Given the description of an element on the screen output the (x, y) to click on. 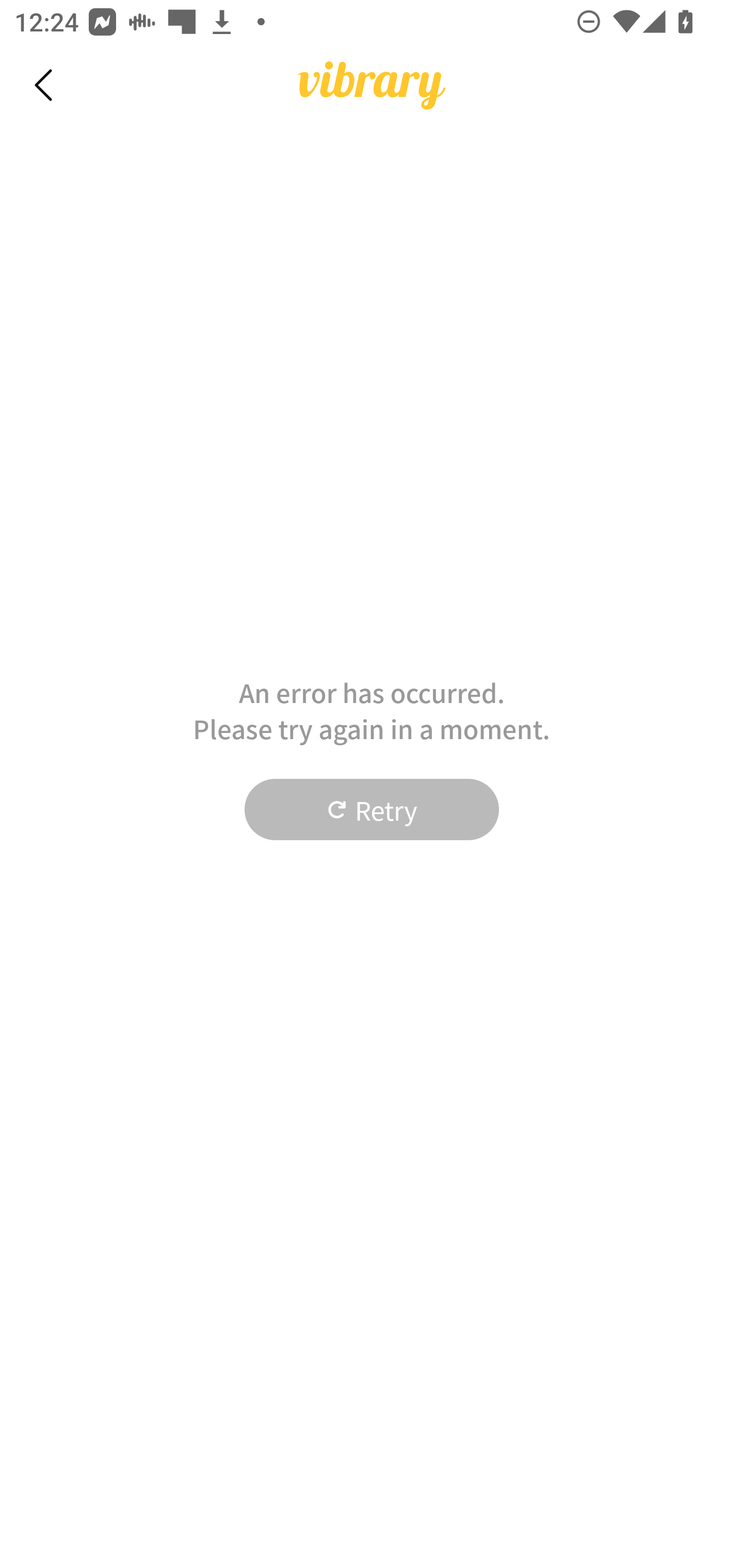
Retry (371, 809)
